Given the description of an element on the screen output the (x, y) to click on. 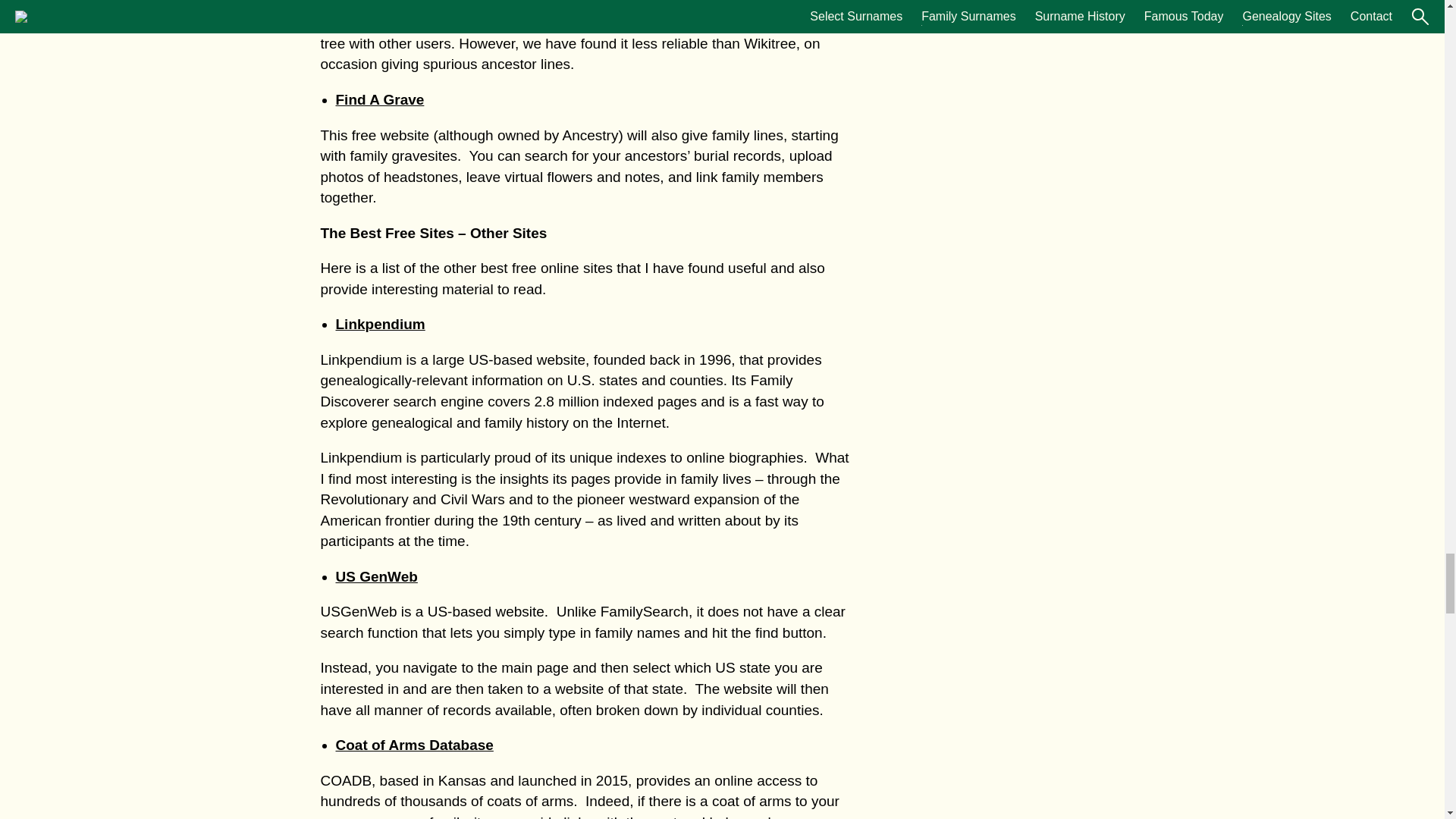
Linkpendium (379, 324)
Find A Grave (378, 99)
US GenWeb (375, 576)
